Given the description of an element on the screen output the (x, y) to click on. 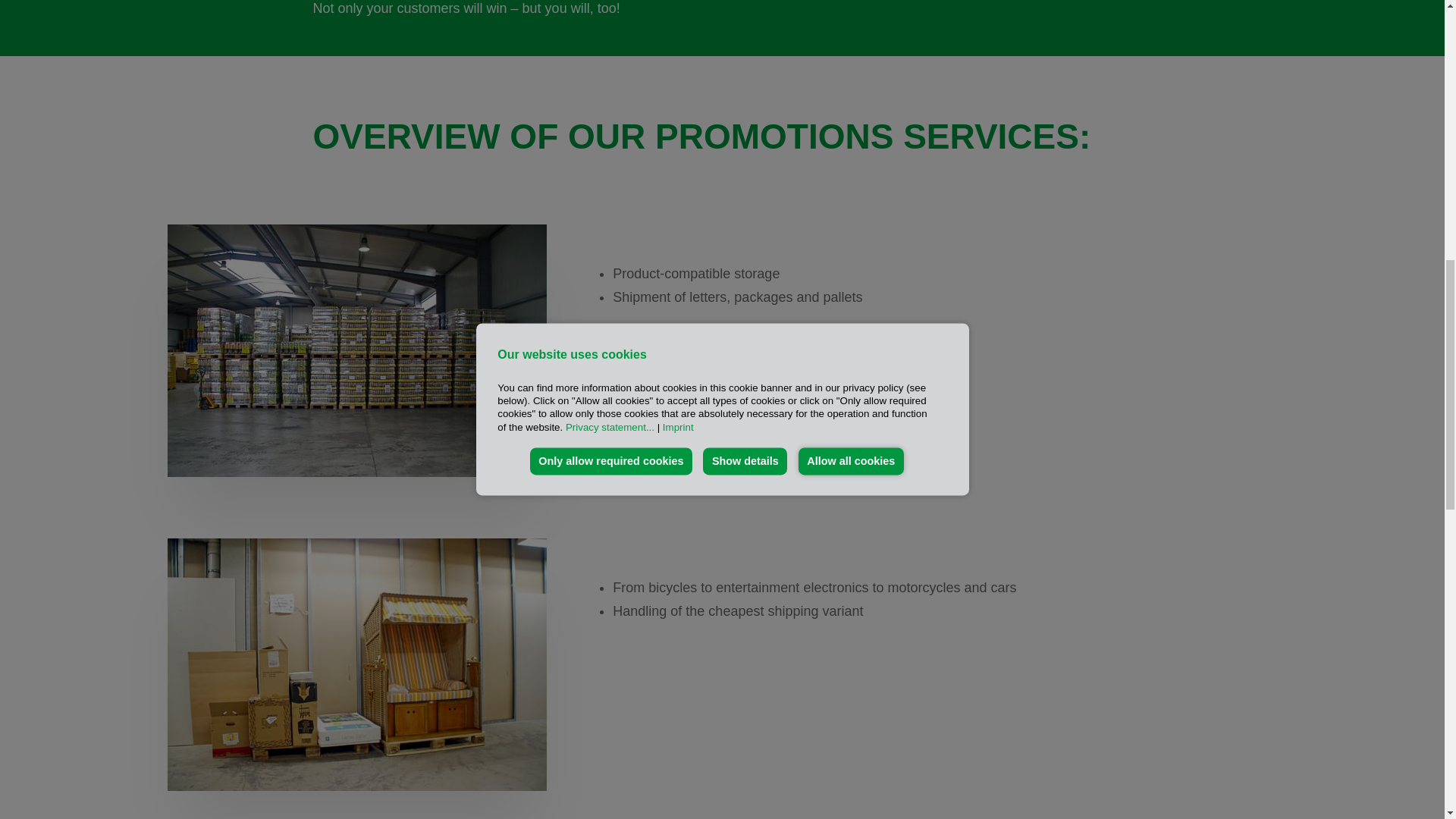
Promotions (356, 664)
fastcon-werbemittel-bild-001 (356, 350)
